Given the description of an element on the screen output the (x, y) to click on. 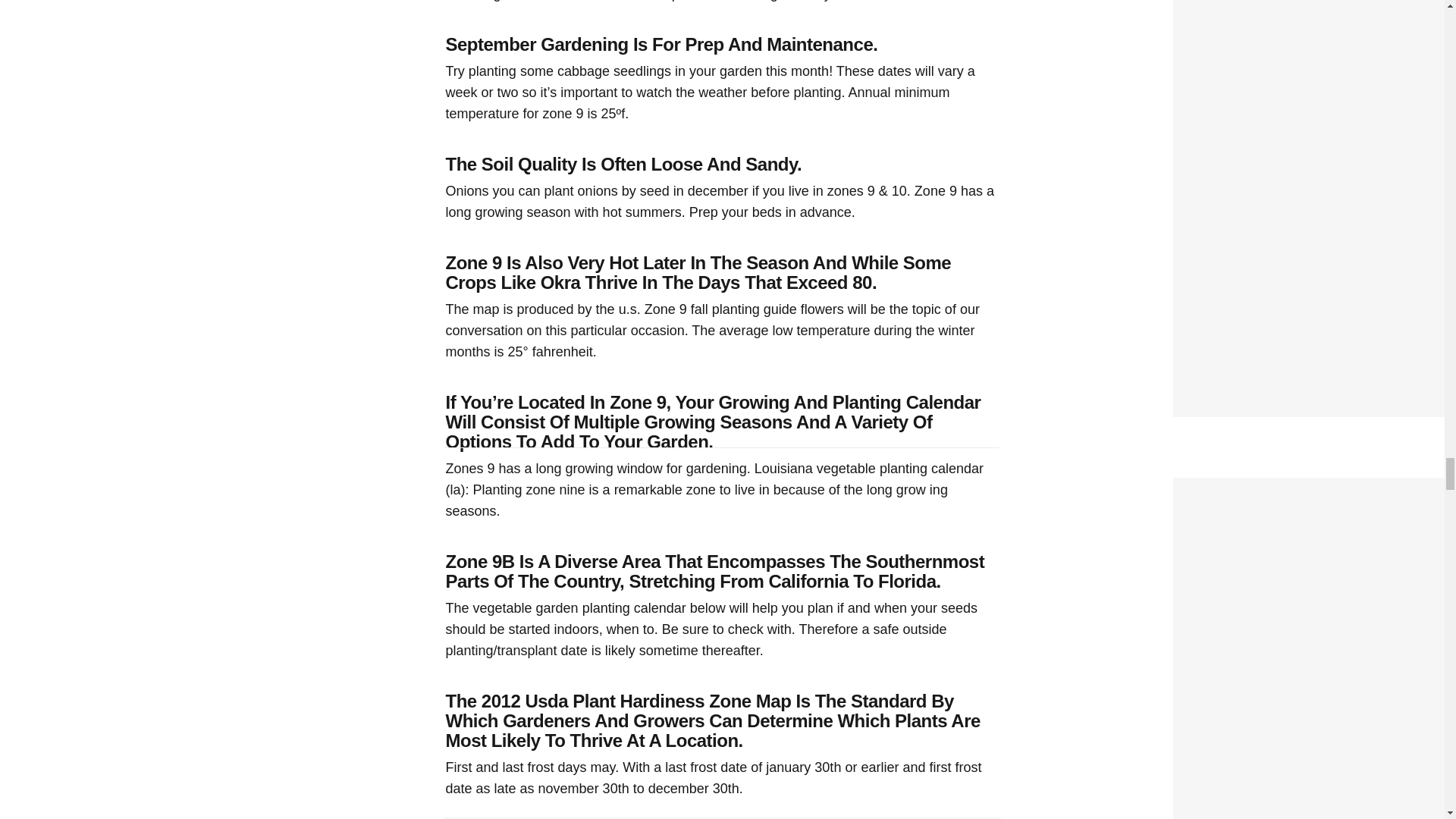
Free Landscape Design App Australia (1295, 487)
